Given the description of an element on the screen output the (x, y) to click on. 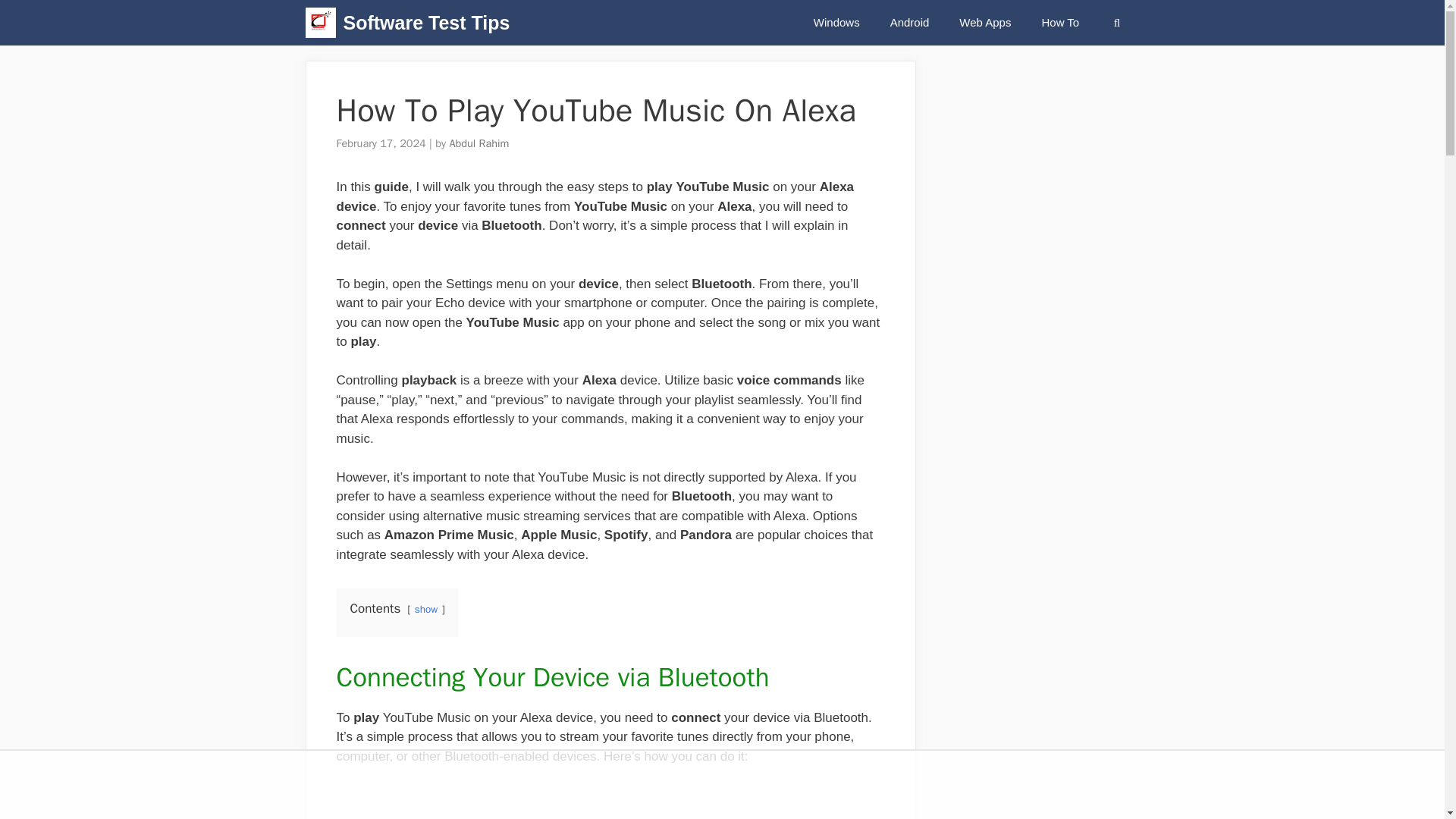
Software Test Tips (425, 22)
Web Apps (984, 22)
Windows (836, 22)
Abdul Rahim (478, 142)
How To (1060, 22)
Android (909, 22)
show (426, 608)
View all posts by Abdul Rahim (478, 142)
